Given the description of an element on the screen output the (x, y) to click on. 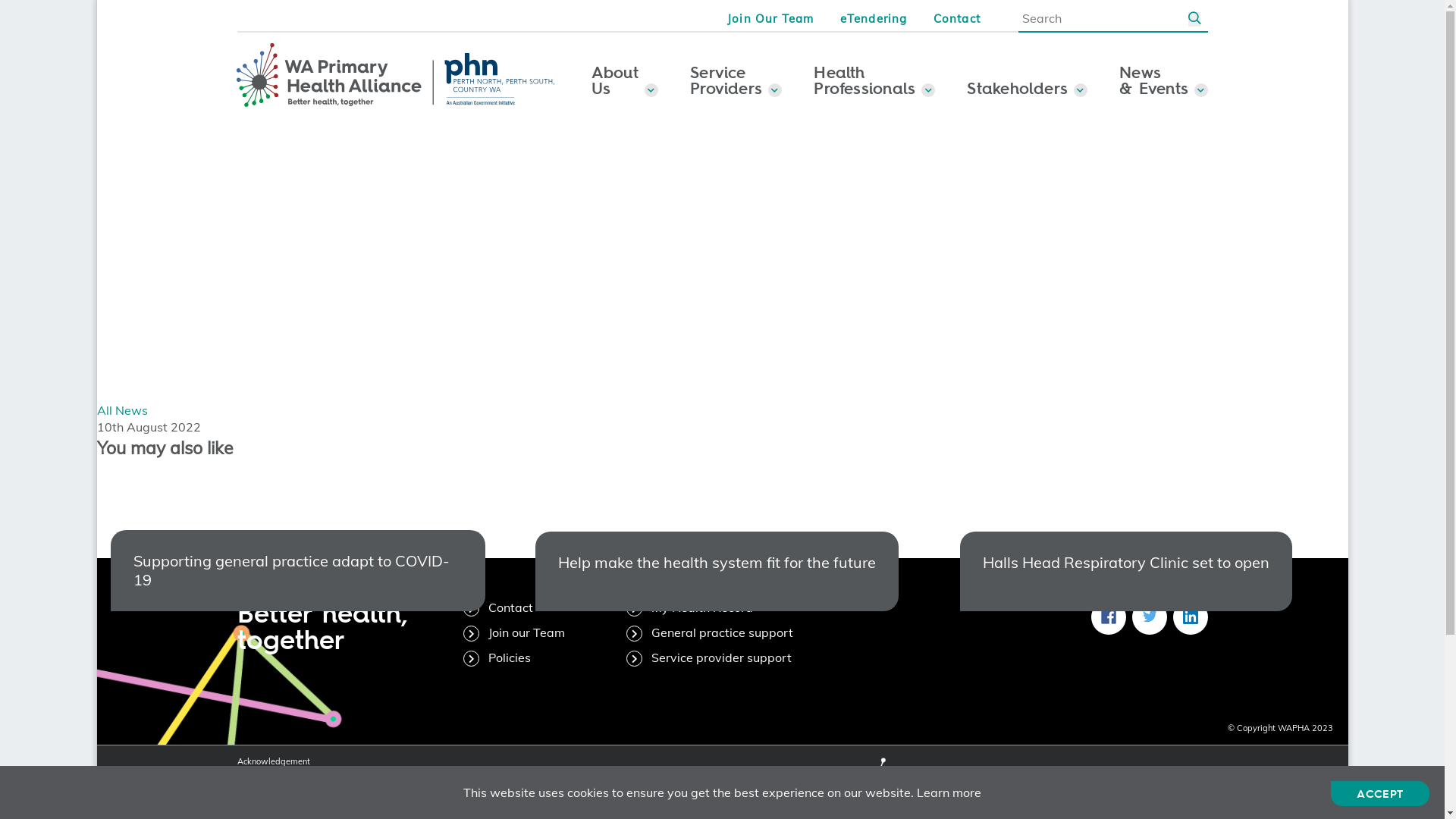
Contact Element type: text (956, 18)
Stakeholders Element type: text (1026, 76)
Health
Professionals Element type: text (874, 76)
All News Element type: text (122, 409)
Service
Providers Element type: text (735, 76)
Contact Element type: text (498, 607)
About
Us Element type: text (624, 76)
Join our Team Element type: text (513, 632)
My Health Record Element type: text (689, 607)
Join Our Team Element type: text (770, 18)
General practice support Element type: text (709, 632)
Service provider support Element type: text (708, 657)
eTendering Element type: text (873, 18)
News
& Events Element type: text (1163, 76)
Learn more Element type: text (948, 792)
Policies Element type: text (496, 657)
ACCEPT Element type: text (1379, 793)
